Given the description of an element on the screen output the (x, y) to click on. 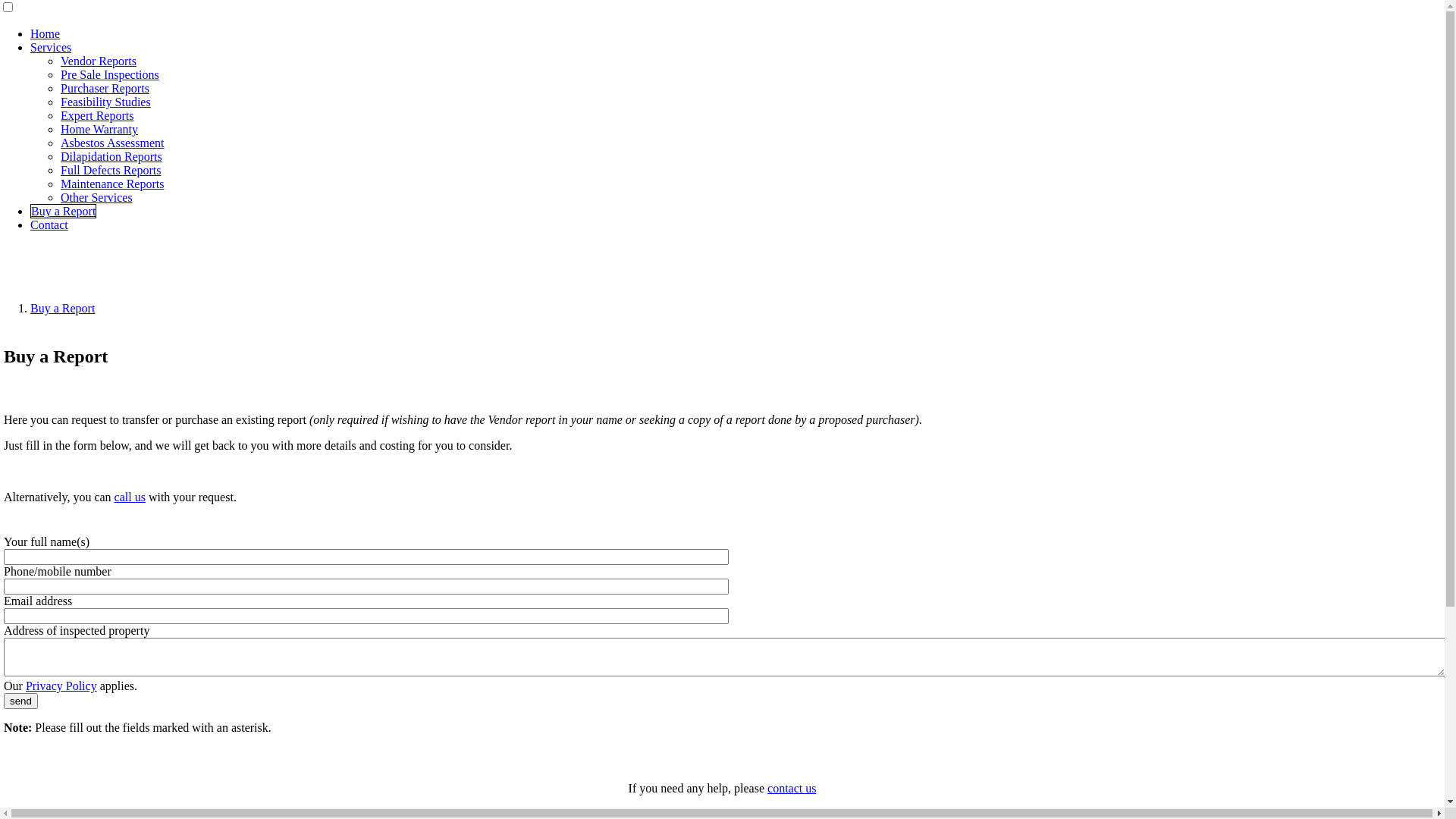
Vendor Reports Element type: text (98, 60)
Feasibility Studies Element type: text (105, 101)
Home Warranty Element type: text (99, 128)
contact us Element type: text (791, 787)
Other Services Element type: text (96, 197)
Pre Sale Inspections Element type: text (109, 74)
Purchaser Reports Element type: text (104, 87)
Maintenance Reports Element type: text (111, 183)
Contact Element type: text (49, 224)
Asbestos Assessment Element type: text (111, 142)
Services Element type: text (50, 46)
Buy a Report Element type: text (62, 307)
Full Defects Reports Element type: text (110, 169)
Dilapidation Reports Element type: text (111, 156)
Privacy Policy Element type: text (61, 685)
Buy a Report Element type: text (63, 210)
send Element type: text (20, 701)
Home Element type: text (44, 33)
Expert Reports Element type: text (96, 115)
call us Element type: text (129, 496)
